Given the description of an element on the screen output the (x, y) to click on. 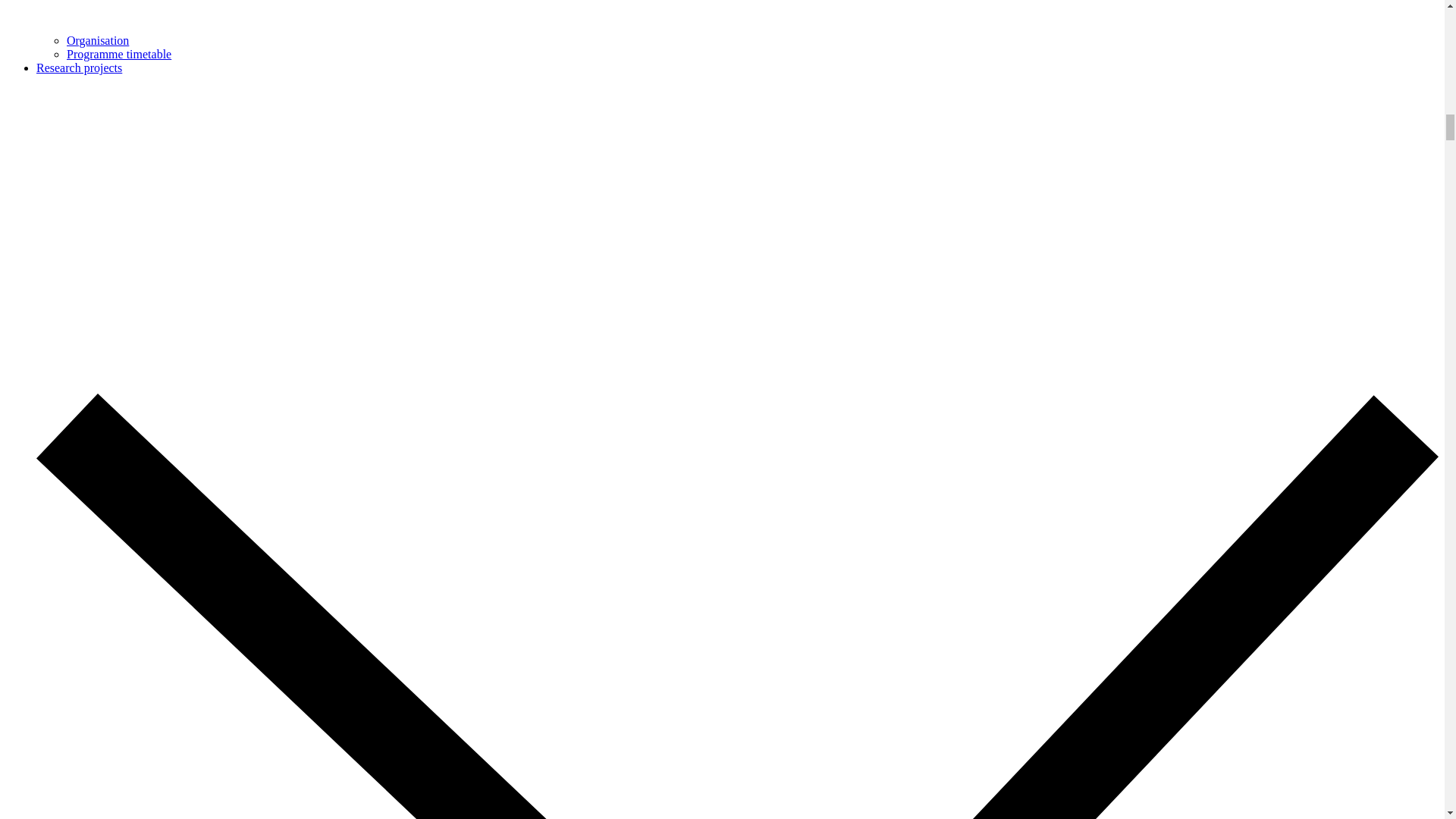
Programme timetable (118, 53)
Research projects (79, 67)
Organisation (97, 40)
